Given the description of an element on the screen output the (x, y) to click on. 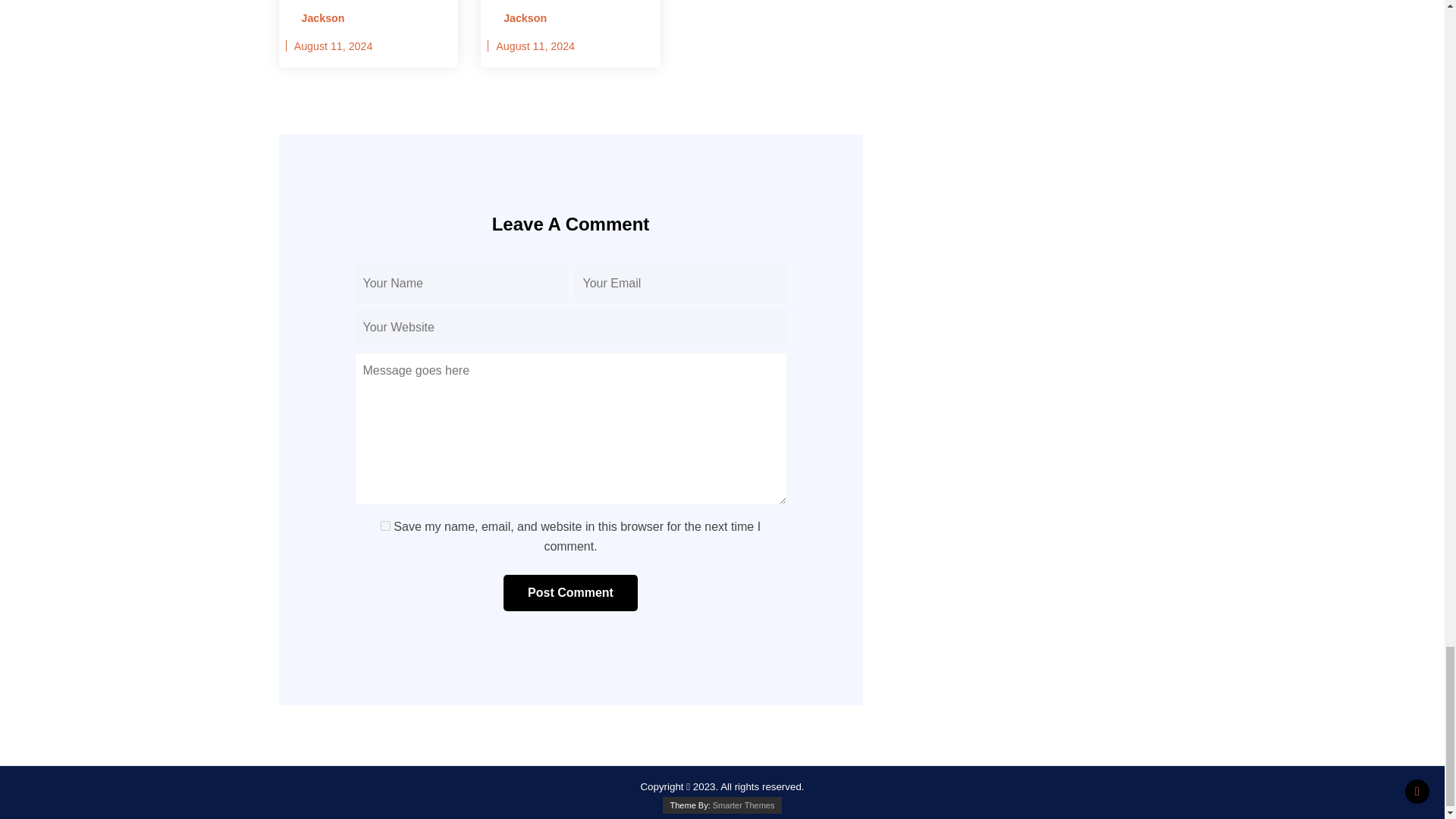
August 11, 2024 (333, 46)
yes (385, 525)
August 11, 2024 (535, 46)
Post Comment (570, 592)
Jackson (318, 18)
Jackson (520, 18)
